Given the description of an element on the screen output the (x, y) to click on. 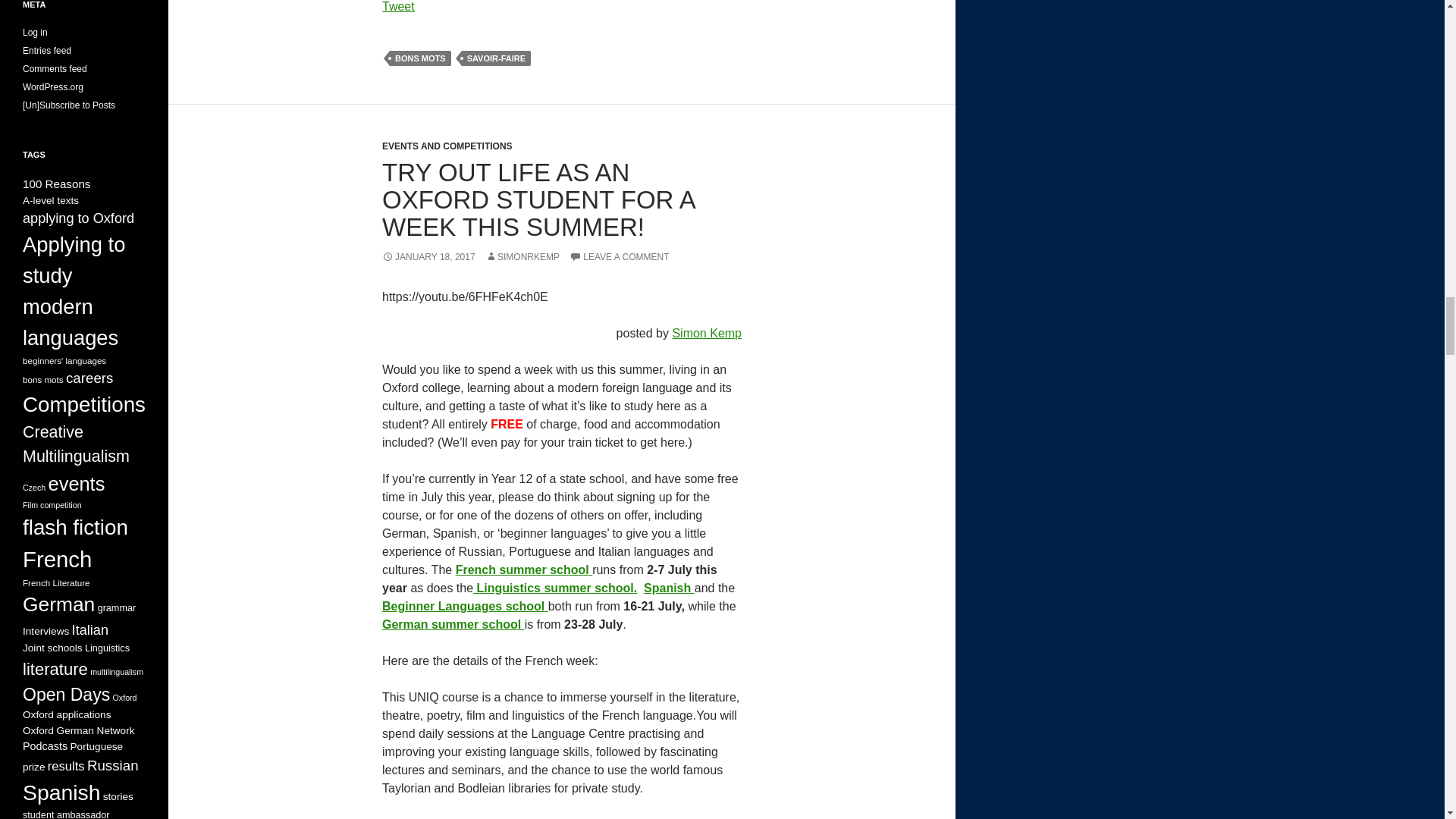
BONS MOTS (420, 58)
Simon Kemp (706, 332)
Spanish (668, 587)
LEAVE A COMMENT (618, 256)
SIMONRKEMP (521, 256)
JANUARY 18, 2017 (428, 256)
TRY OUT LIFE AS AN OXFORD STUDENT FOR A WEEK THIS SUMMER! (537, 199)
Beginner Languages school (464, 605)
SAVOIR-FAIRE (496, 58)
French summer school (523, 569)
Linguistics summer school. (555, 587)
EVENTS AND COMPETITIONS (446, 145)
German summer school (452, 624)
Tweet (397, 6)
